Given the description of an element on the screen output the (x, y) to click on. 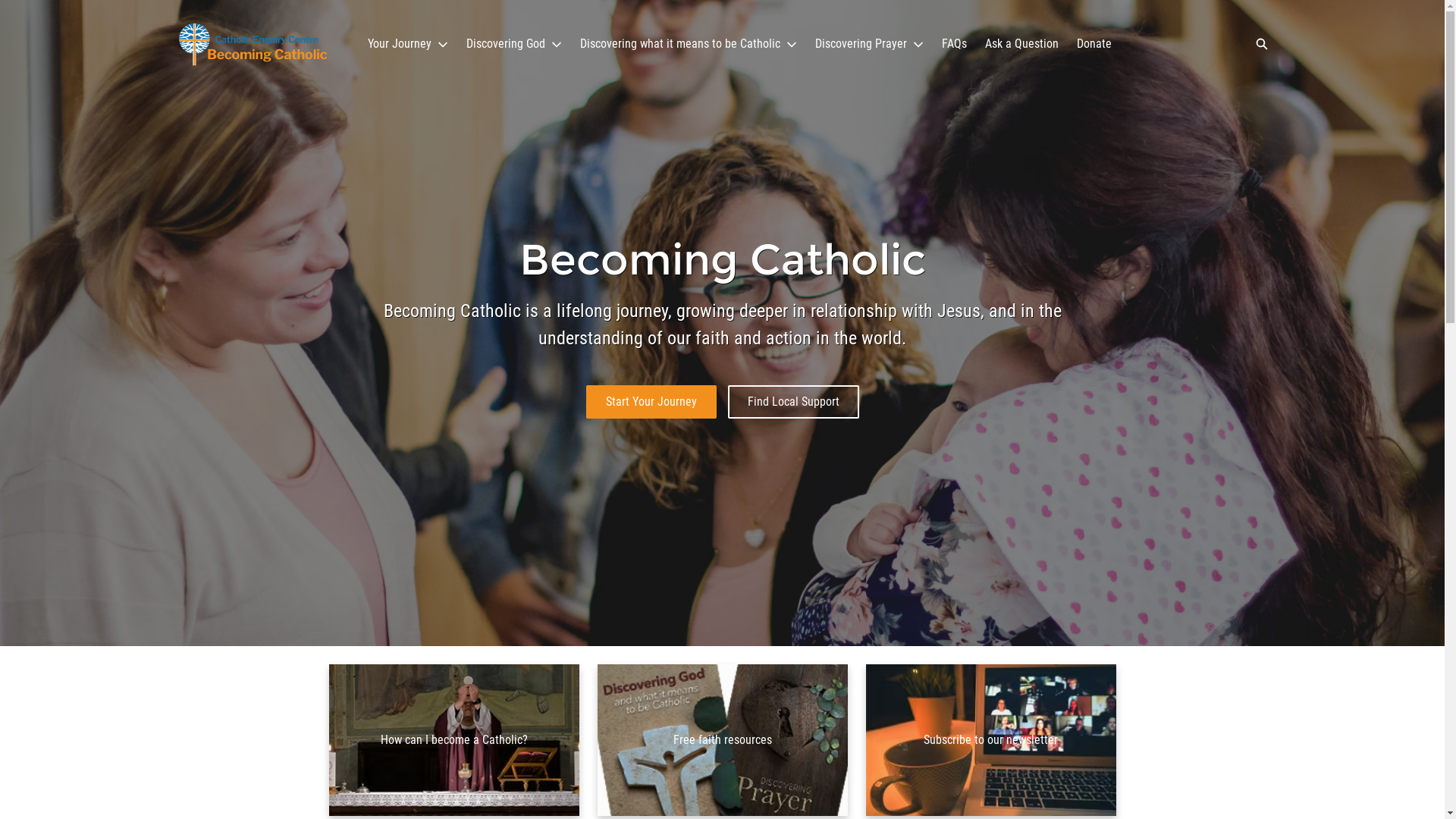
Discovering Prayer Element type: text (868, 43)
Free faith resources Element type: text (722, 739)
How can I become a Catholic? Element type: text (454, 739)
Find Local Support Element type: text (793, 401)
Become Catholic Element type: text (251, 43)
FAQs Element type: text (953, 43)
Discovering God Element type: text (513, 43)
Subscribe to our newsletter Element type: text (991, 739)
Discovering what it means to be Catholic Element type: text (687, 43)
Expand search Element type: text (1260, 43)
Your Journey Element type: text (406, 43)
Start Your Journey Element type: text (650, 401)
Donate Element type: text (1093, 43)
Skip to Main Content Element type: text (9, 4)
Ask a Question Element type: text (1020, 43)
